Given the description of an element on the screen output the (x, y) to click on. 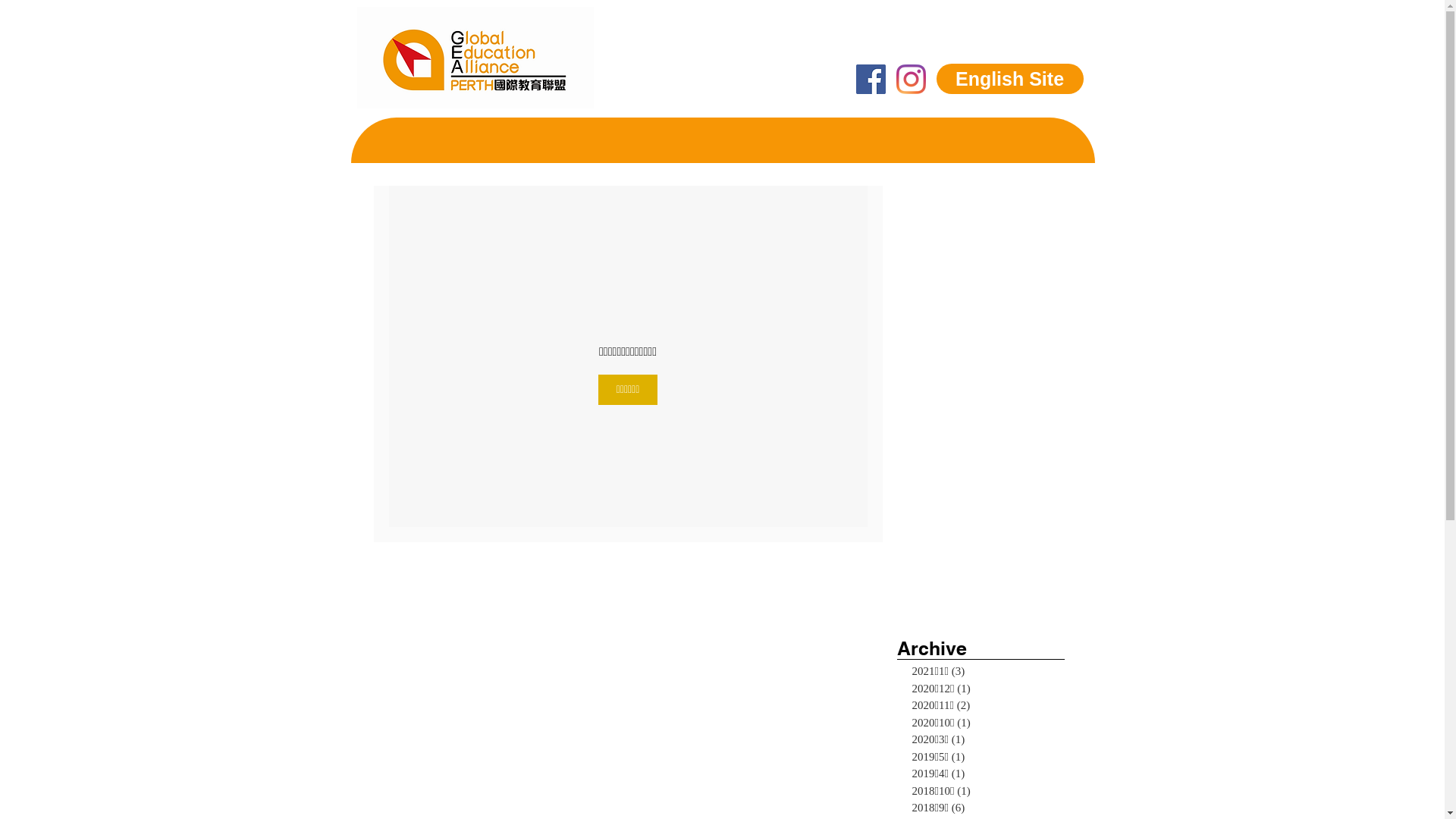
English Site Element type: text (1008, 78)
